Given the description of an element on the screen output the (x, y) to click on. 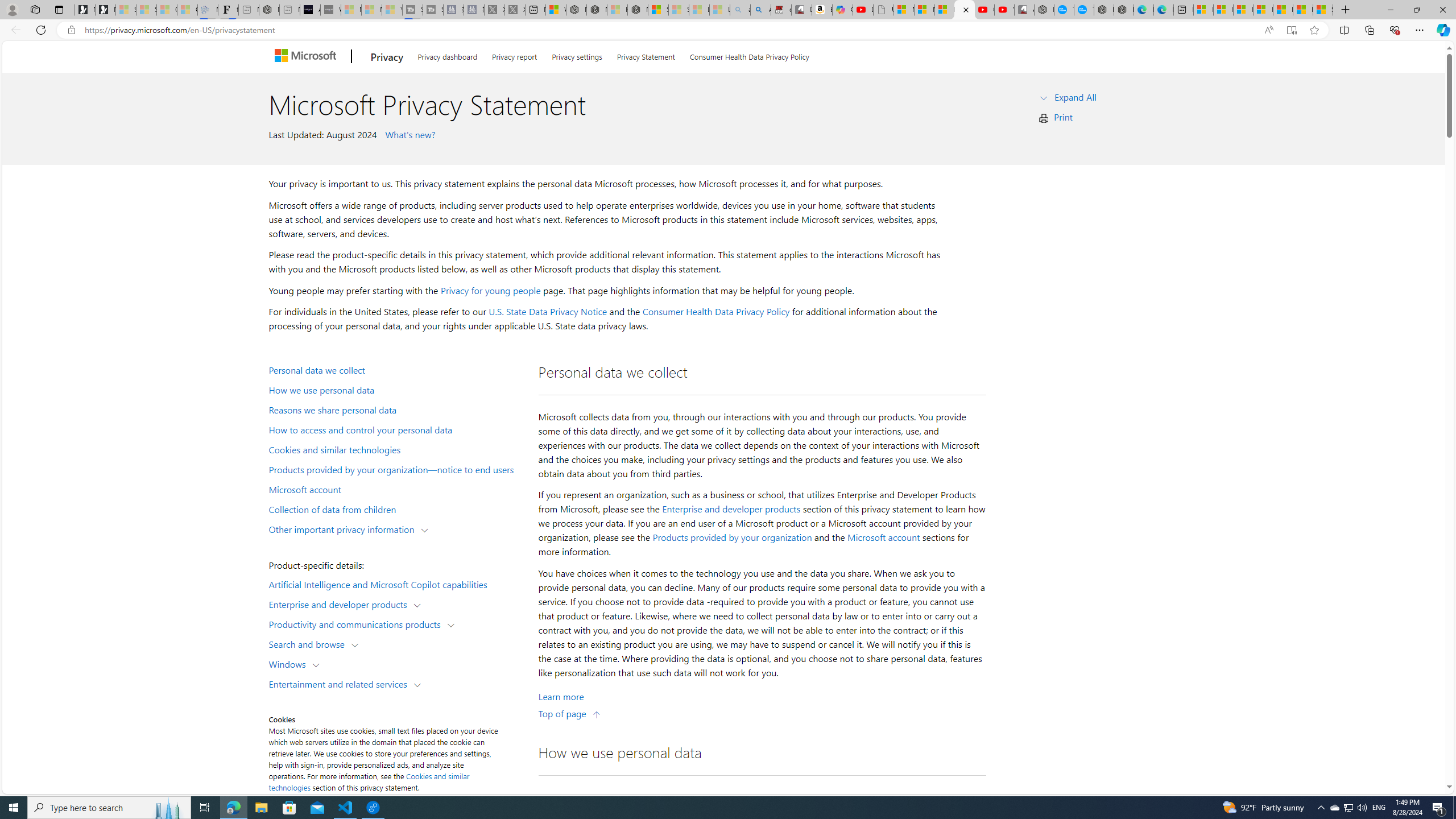
Microsoft Start - Sleeping (371, 9)
Cookies and similar technologies (368, 780)
Collection of data from children (395, 508)
Microsoft account | Microsoft Account Privacy Settings (1222, 9)
Privacy report (514, 54)
Consumer Health Data Privacy Policy (716, 311)
Nordace - Nordace has arrived Hong Kong (1123, 9)
I Gained 20 Pounds of Muscle in 30 Days! | Watch (1302, 9)
Privacy dashboard (447, 54)
